Given the description of an element on the screen output the (x, y) to click on. 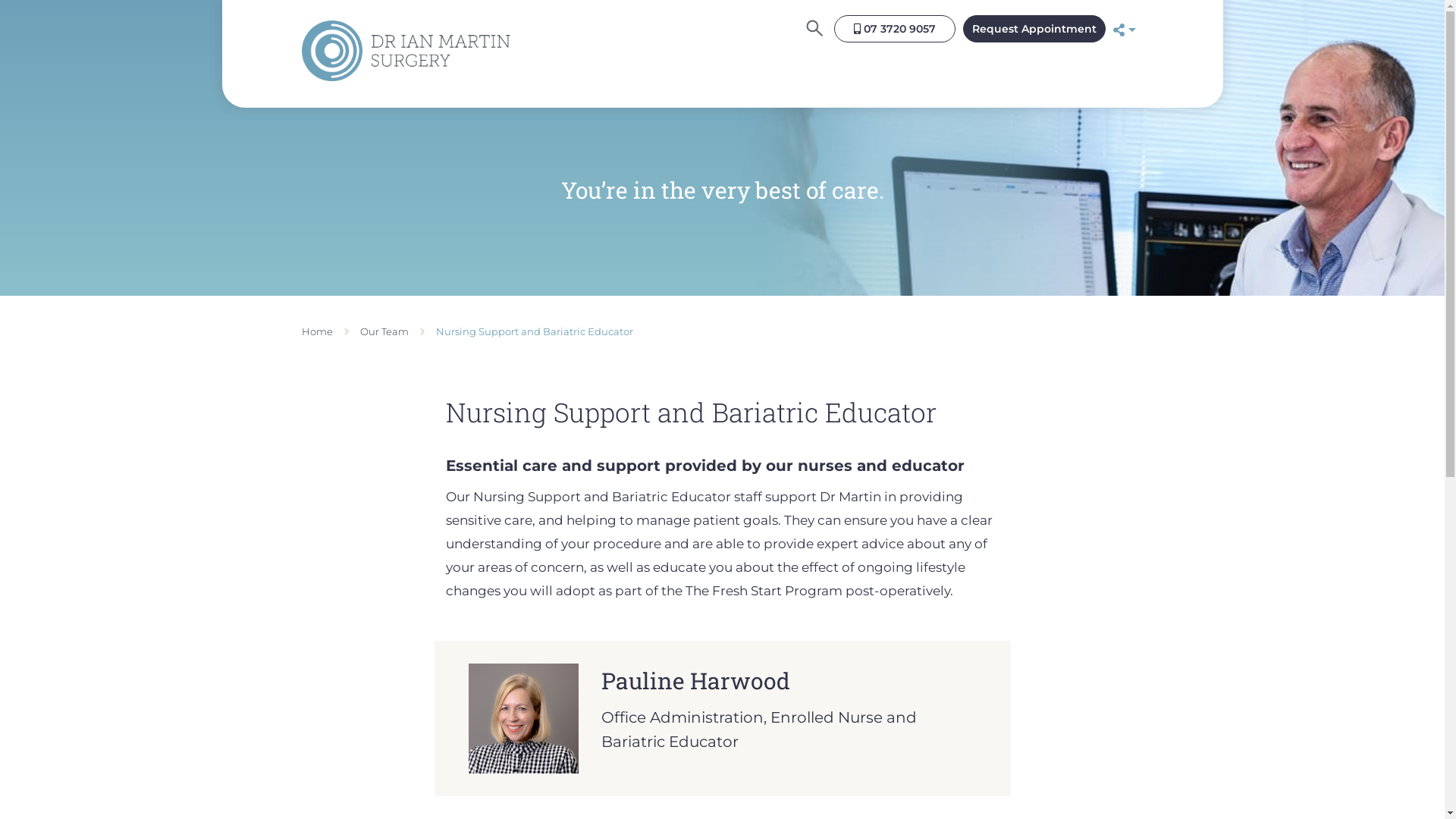
Our Team Element type: text (383, 331)
Logo
Dr Ian Martin Element type: text (405, 53)
Request Appointment Element type: text (1034, 28)
Home Element type: text (316, 331)
07 3720 9057 Element type: text (894, 28)
